Given the description of an element on the screen output the (x, y) to click on. 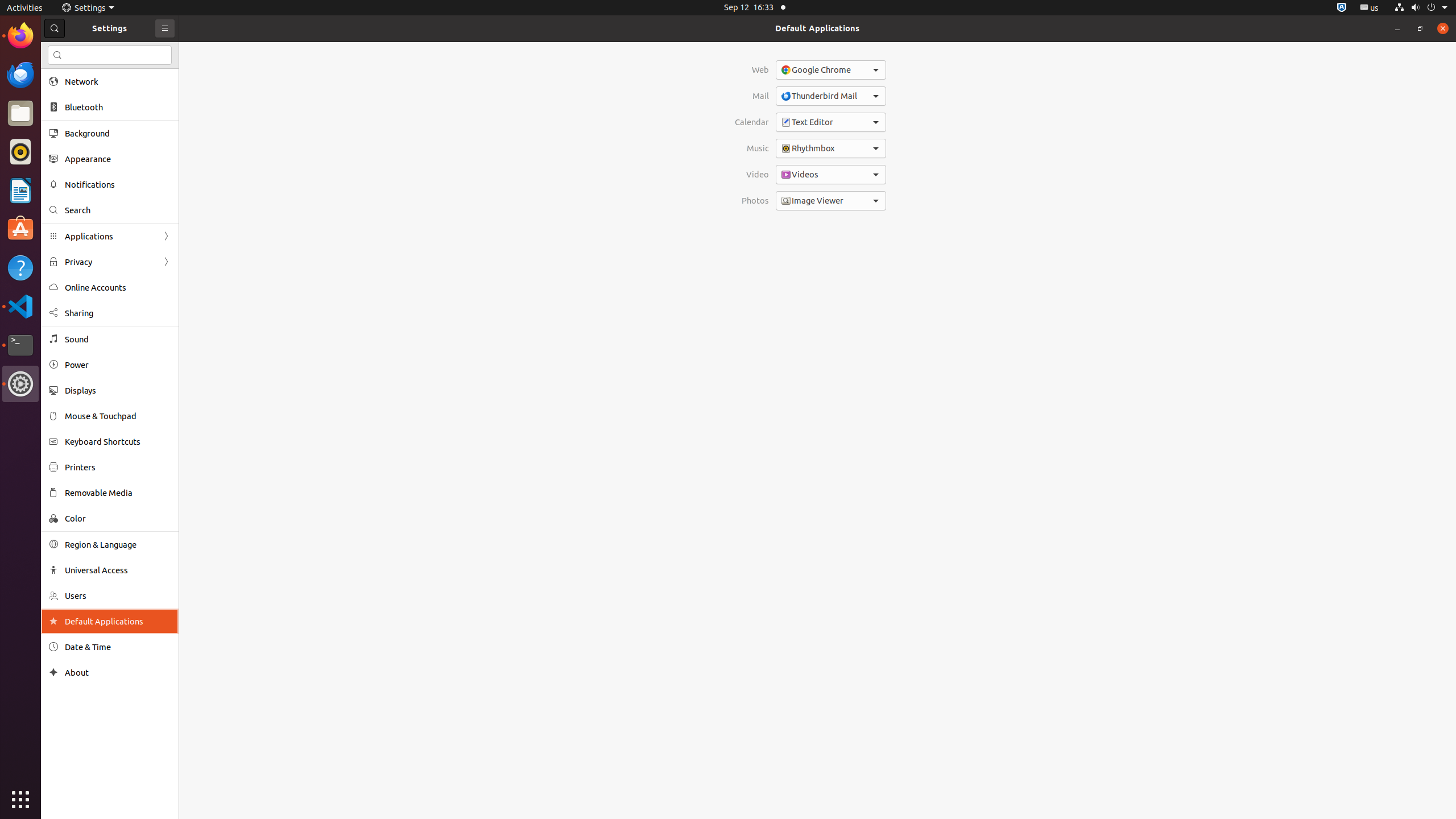
Terminal Element type: push-button (20, 344)
Firefox Web Browser Element type: push-button (20, 35)
Close Element type: push-button (1442, 27)
Activities Element type: label (24, 7)
Printers Element type: label (117, 467)
